Given the description of an element on the screen output the (x, y) to click on. 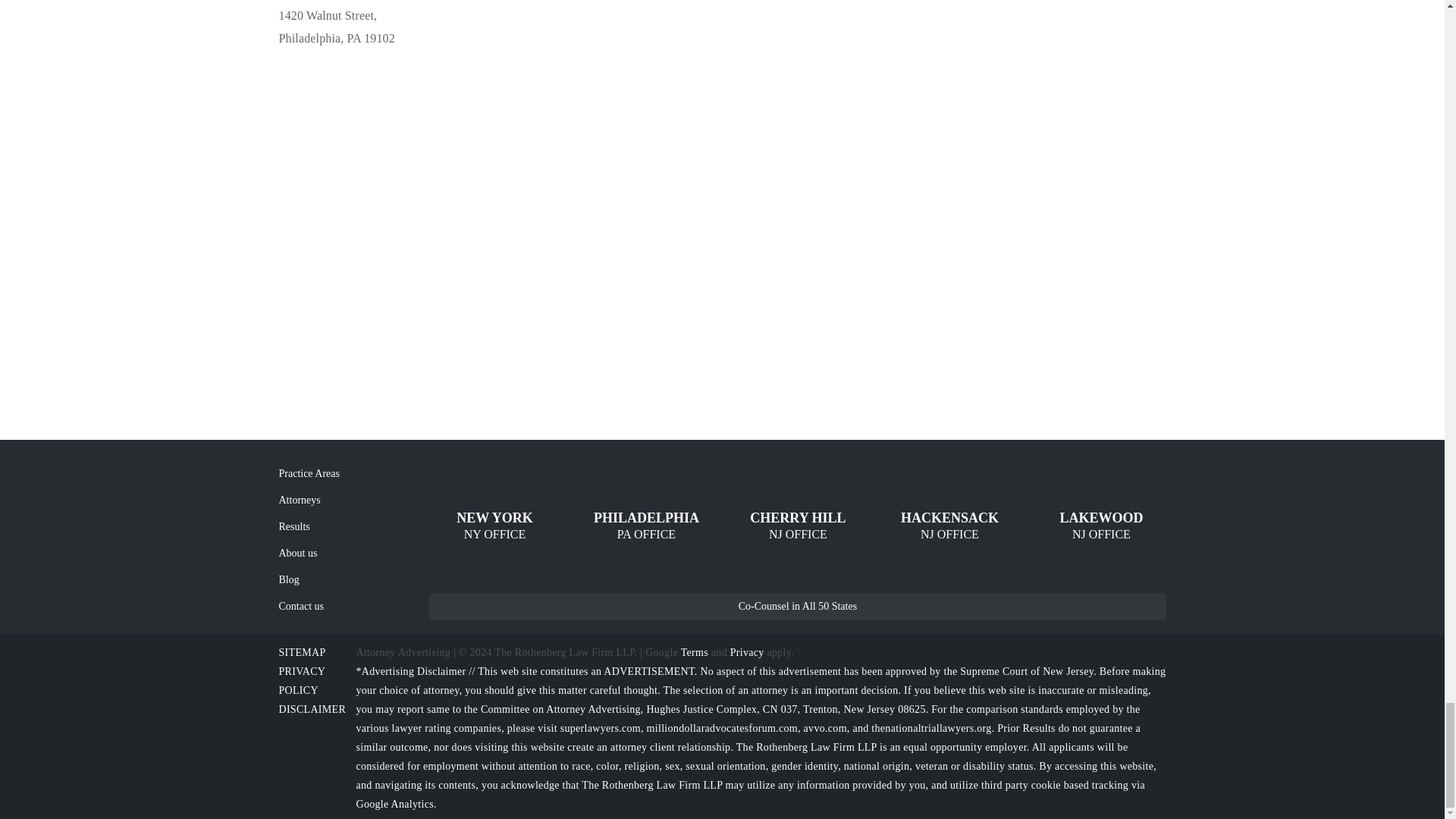
Cherry Hill office (797, 525)
Philadelphia office (645, 525)
Lakewood office (1101, 525)
Hackensack office (949, 525)
New York office (494, 525)
